Given the description of an element on the screen output the (x, y) to click on. 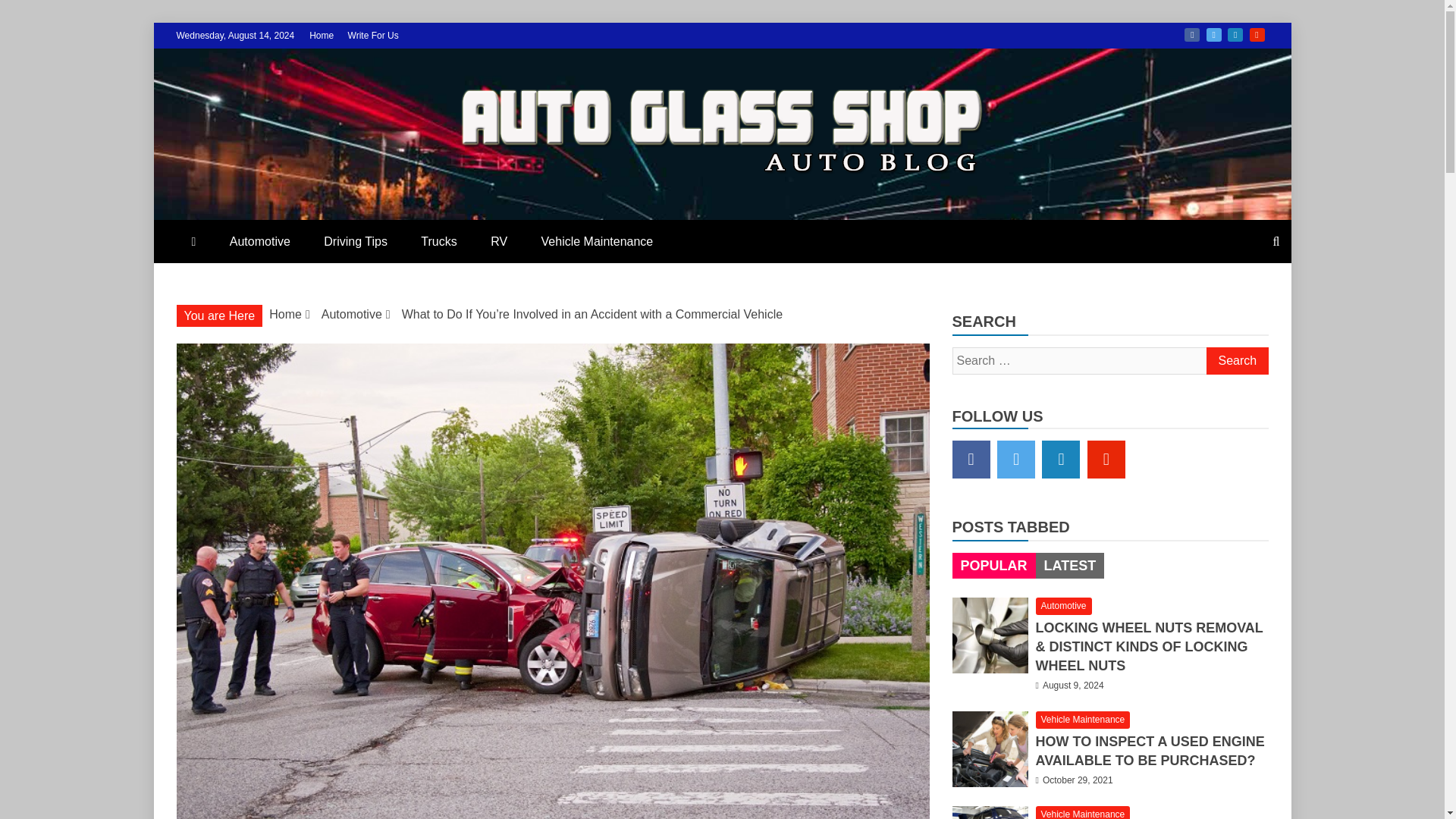
Search (1236, 360)
Trucks (438, 241)
Vehicle Maintenance (596, 241)
YouTube (1257, 34)
Search (1236, 360)
RV (499, 241)
Facebook (1192, 34)
AUTO GLASS SHOP (416, 226)
Home (320, 35)
